Given the description of an element on the screen output the (x, y) to click on. 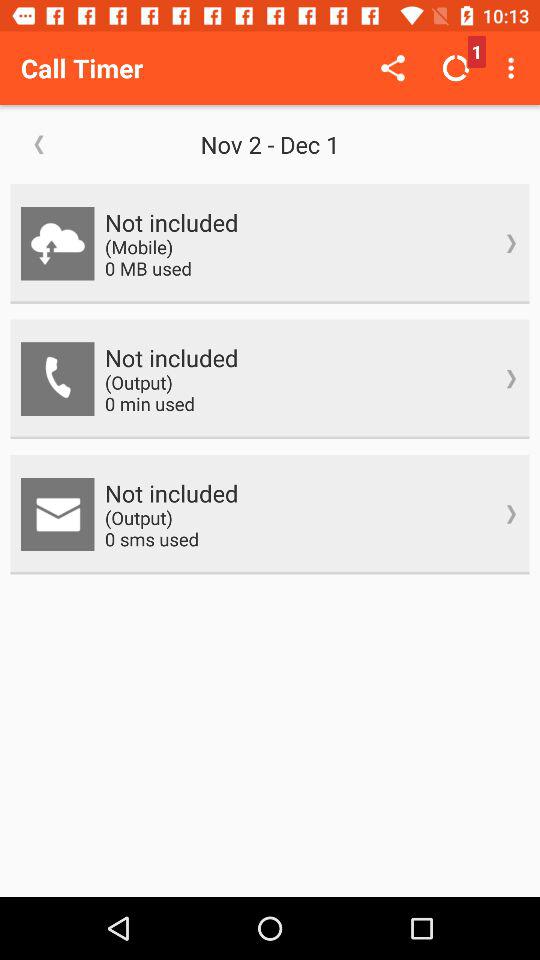
turn off the icon next to call timer icon (392, 67)
